Given the description of an element on the screen output the (x, y) to click on. 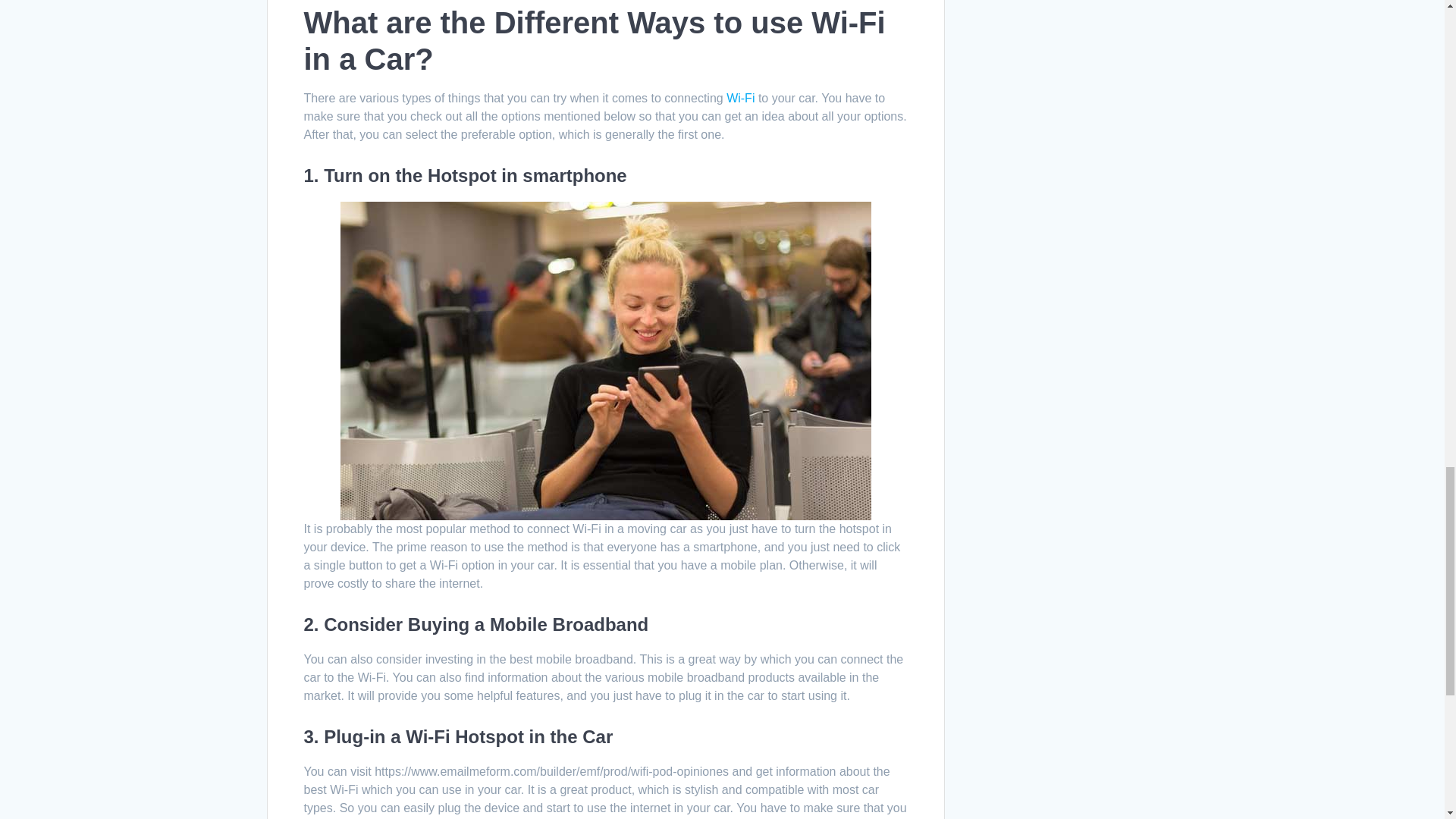
Wi-Fi (740, 97)
